Given the description of an element on the screen output the (x, y) to click on. 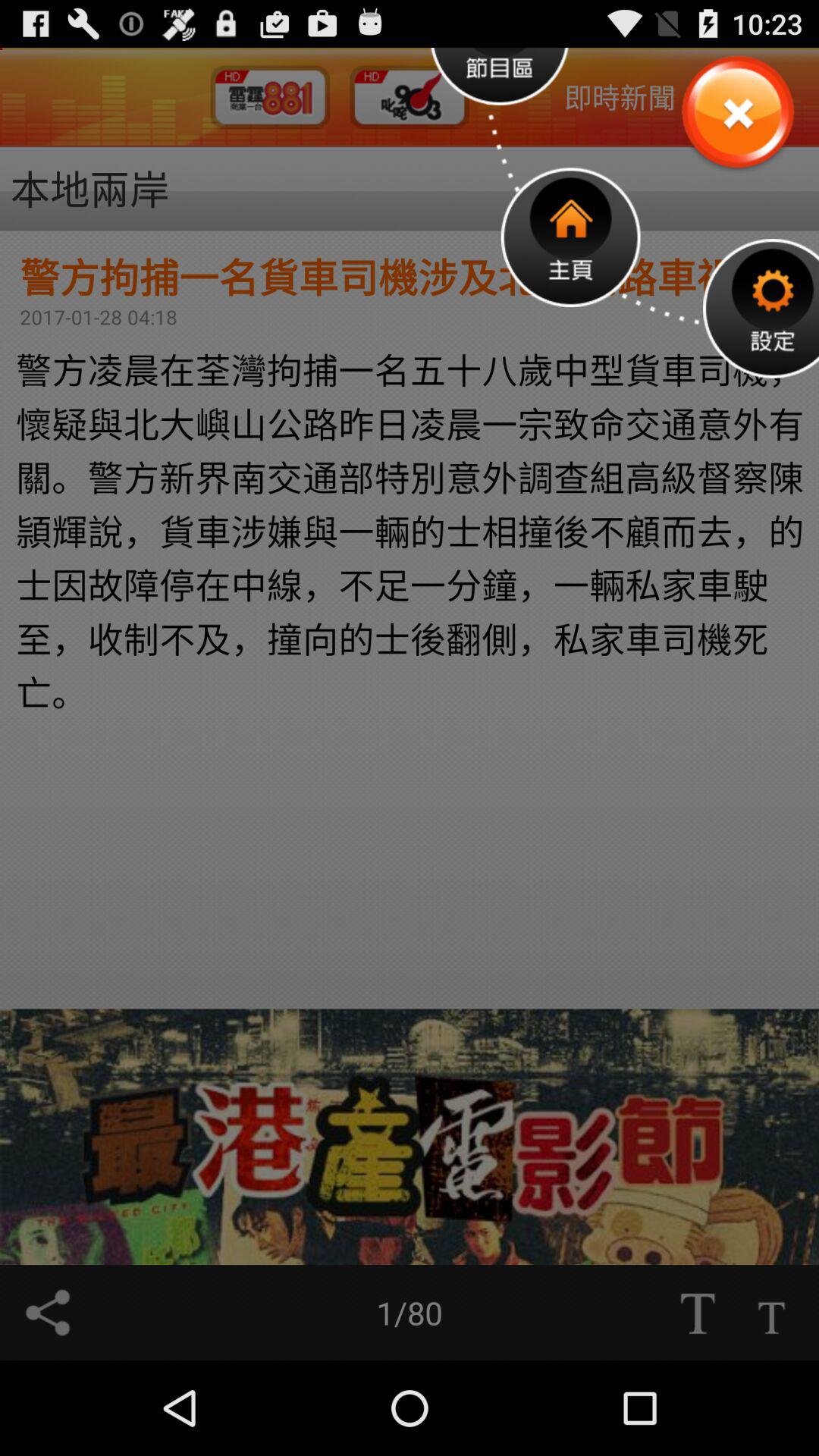
cloth the option (737, 113)
